Given the description of an element on the screen output the (x, y) to click on. 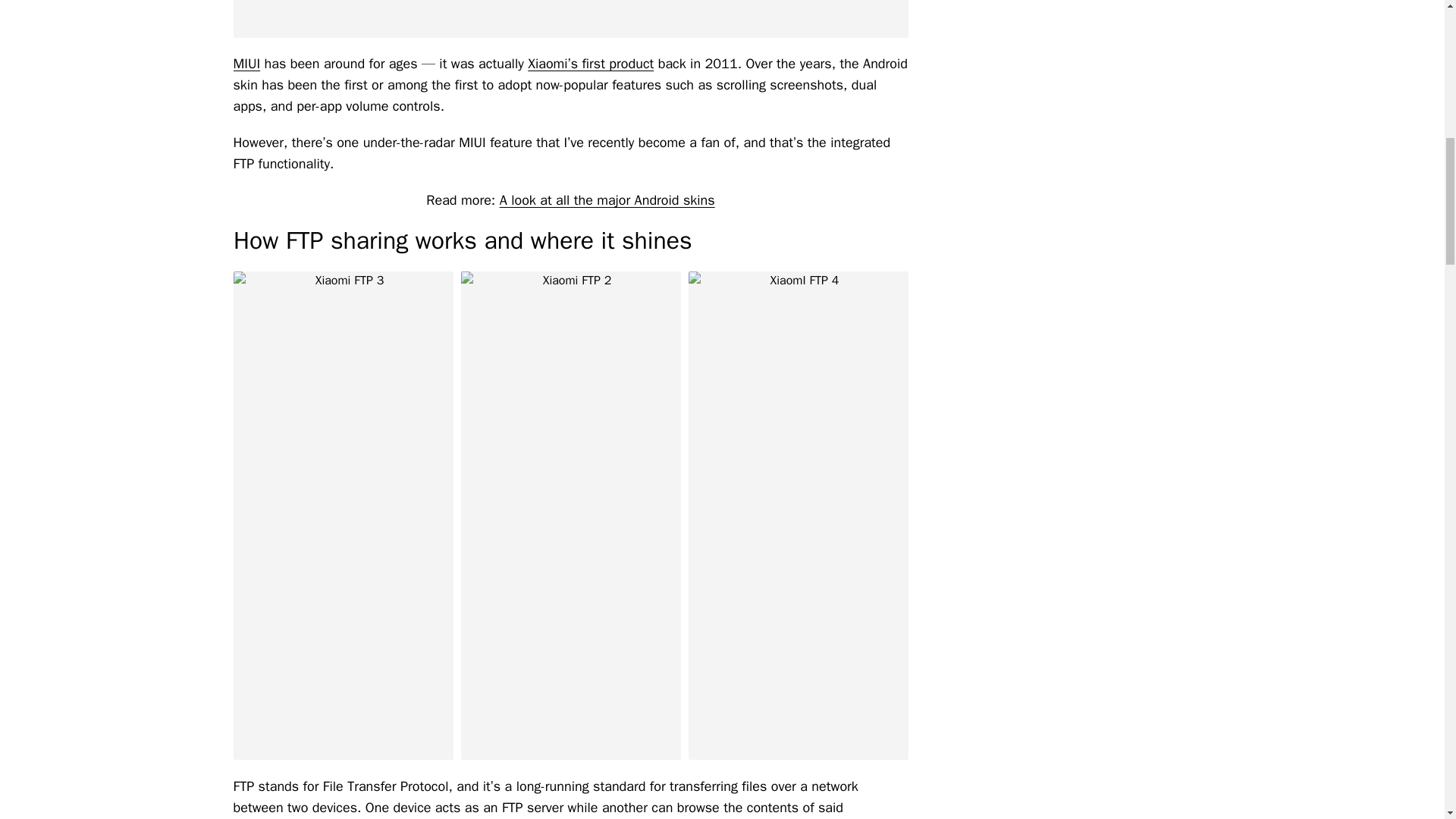
MIUI (246, 63)
A look at all the major Android skins (606, 199)
Xiaomi FTP on smartphone (570, 18)
